Given the description of an element on the screen output the (x, y) to click on. 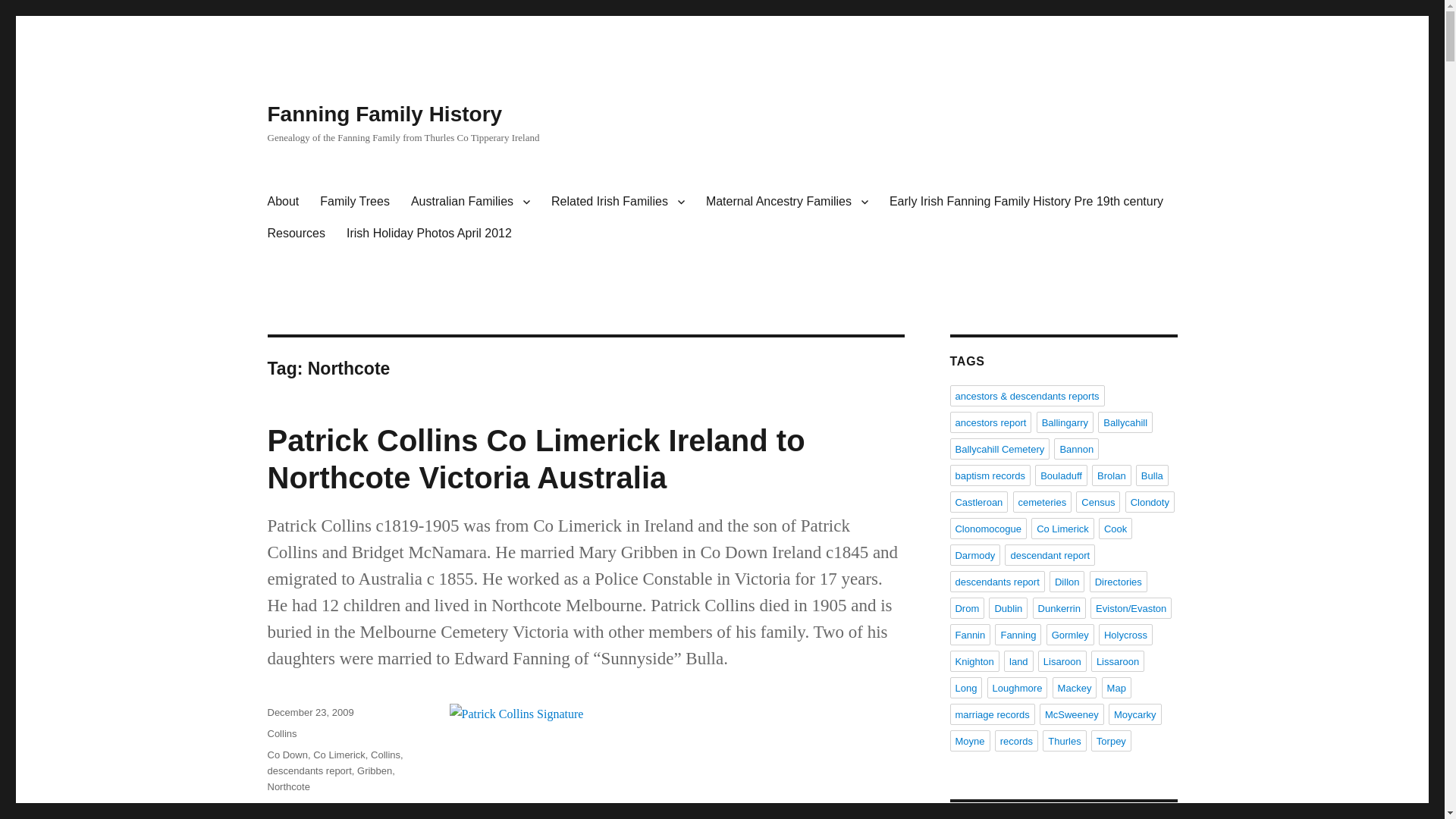
Fanning Family History (384, 114)
Australian Families (470, 201)
About (282, 201)
Irish Holiday Photos April 2012 (429, 233)
Early Irish Fanning Family History Pre 19th century (1026, 201)
Resources (295, 233)
Related Irish Families (617, 201)
Maternal Ancestry Families (787, 201)
Family Trees (354, 201)
